Given the description of an element on the screen output the (x, y) to click on. 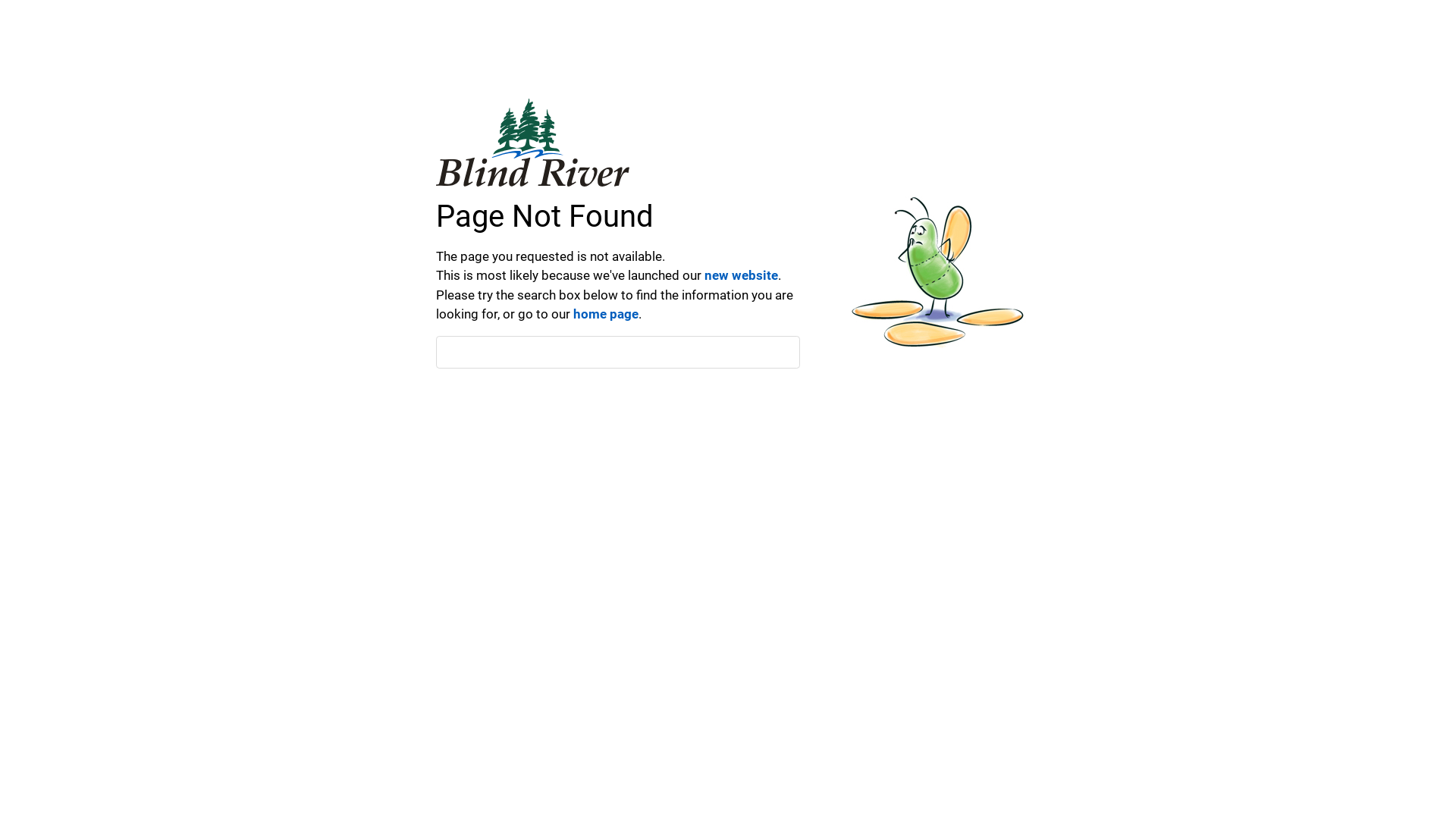
home page Element type: text (605, 313)
new website Element type: text (741, 274)
Click to return to the homepage Element type: hover (532, 142)
